Given the description of an element on the screen output the (x, y) to click on. 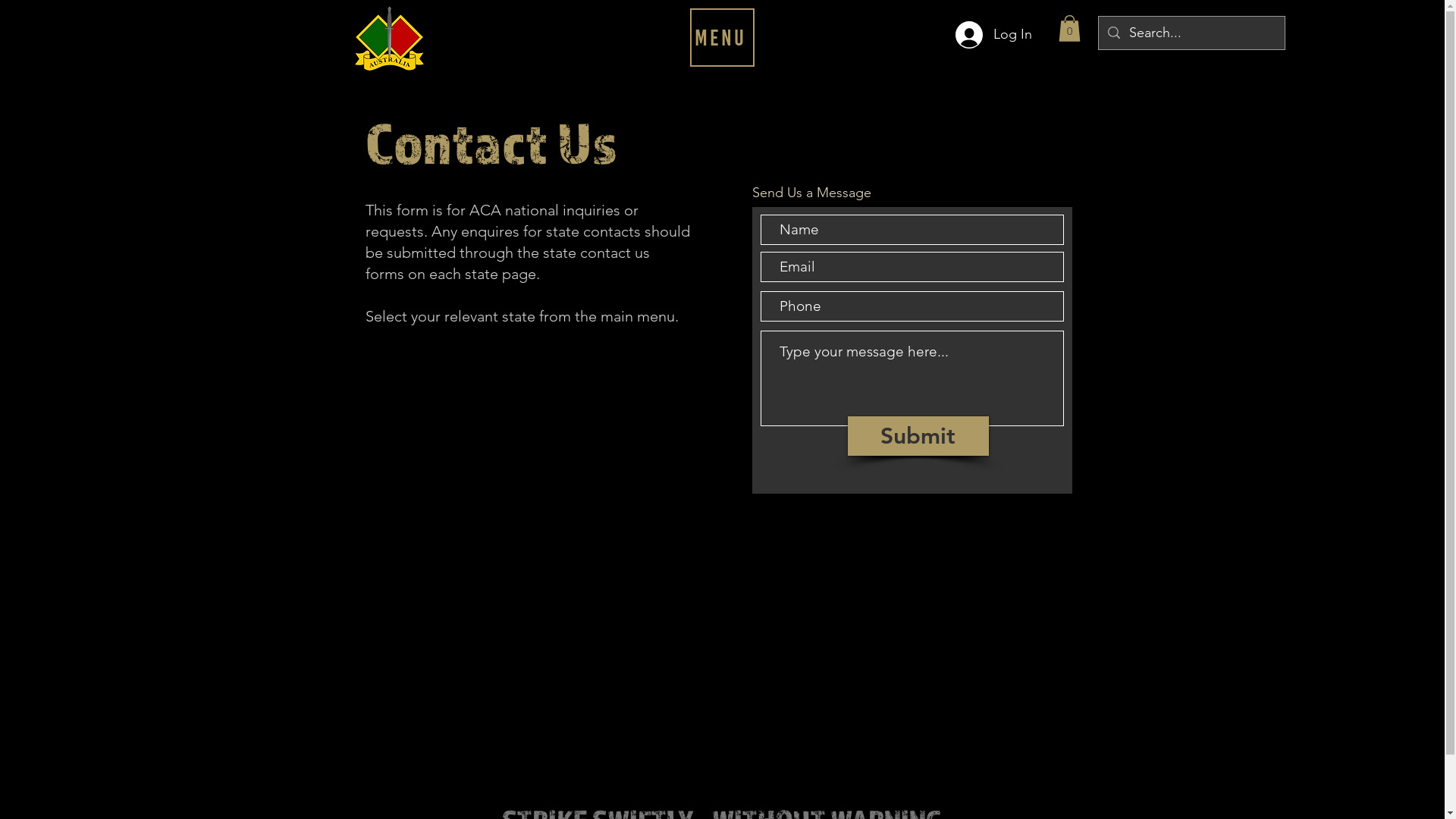
Log In Element type: text (993, 34)
MENU Element type: text (722, 37)
0 Element type: text (1069, 28)
Submit Element type: text (917, 435)
